Given the description of an element on the screen output the (x, y) to click on. 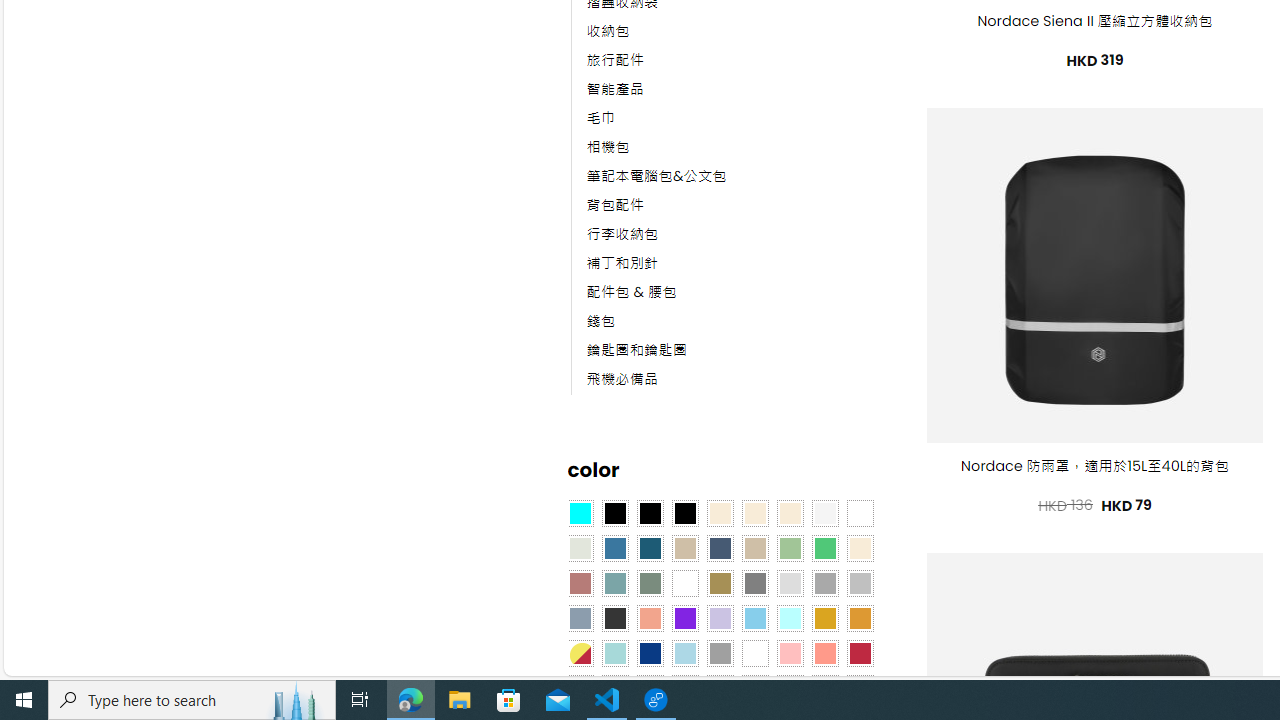
Cream (789, 514)
